Given the description of an element on the screen output the (x, y) to click on. 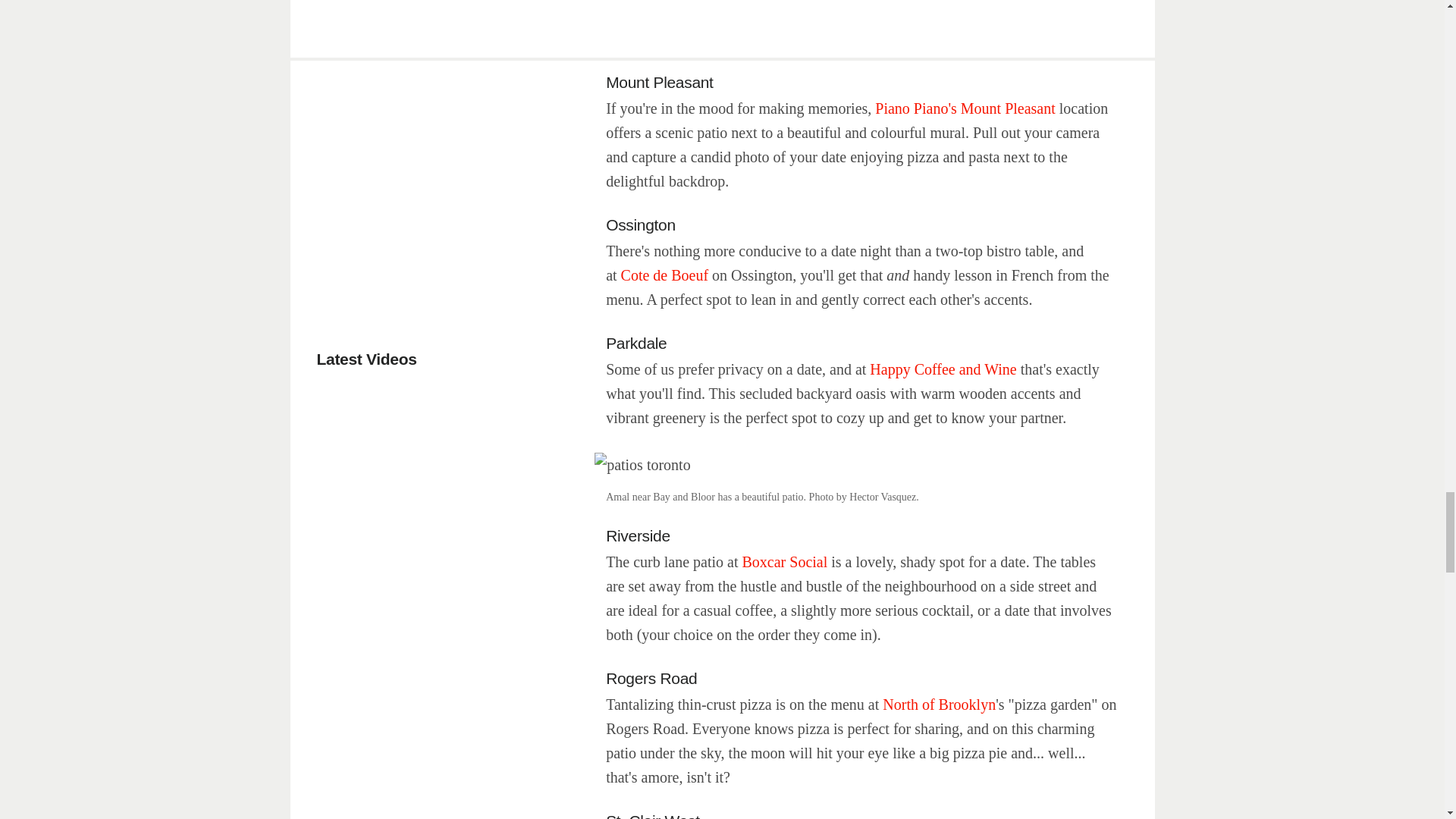
Happy Coffee and Wine (942, 369)
Boxcar Social (784, 561)
Piano Piano's Mount Pleasant (965, 108)
Cote de Boeuf (665, 274)
North of Brooklyn (938, 704)
